Given the description of an element on the screen output the (x, y) to click on. 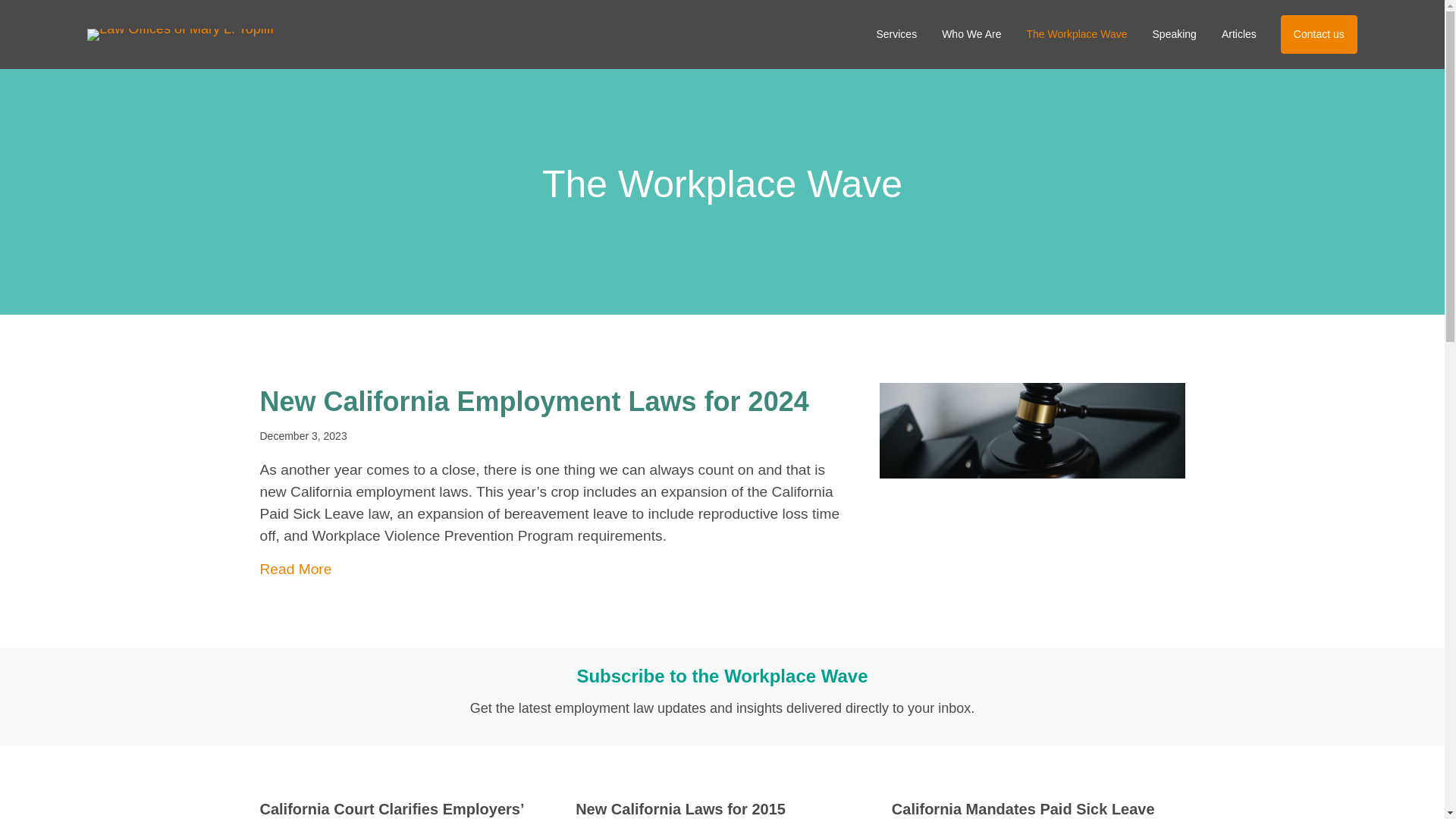
Who We Are (971, 34)
New California Laws for 2015 (680, 808)
Workplace Wave (1075, 34)
Contact us (1318, 34)
California Mandates Paid Sick Leave (1022, 808)
Speaking (1174, 34)
New California Employment Laws for 2024 (1032, 429)
California Mandates Paid Sick Leave (1022, 808)
Articles (1238, 34)
Services (895, 34)
